Given the description of an element on the screen output the (x, y) to click on. 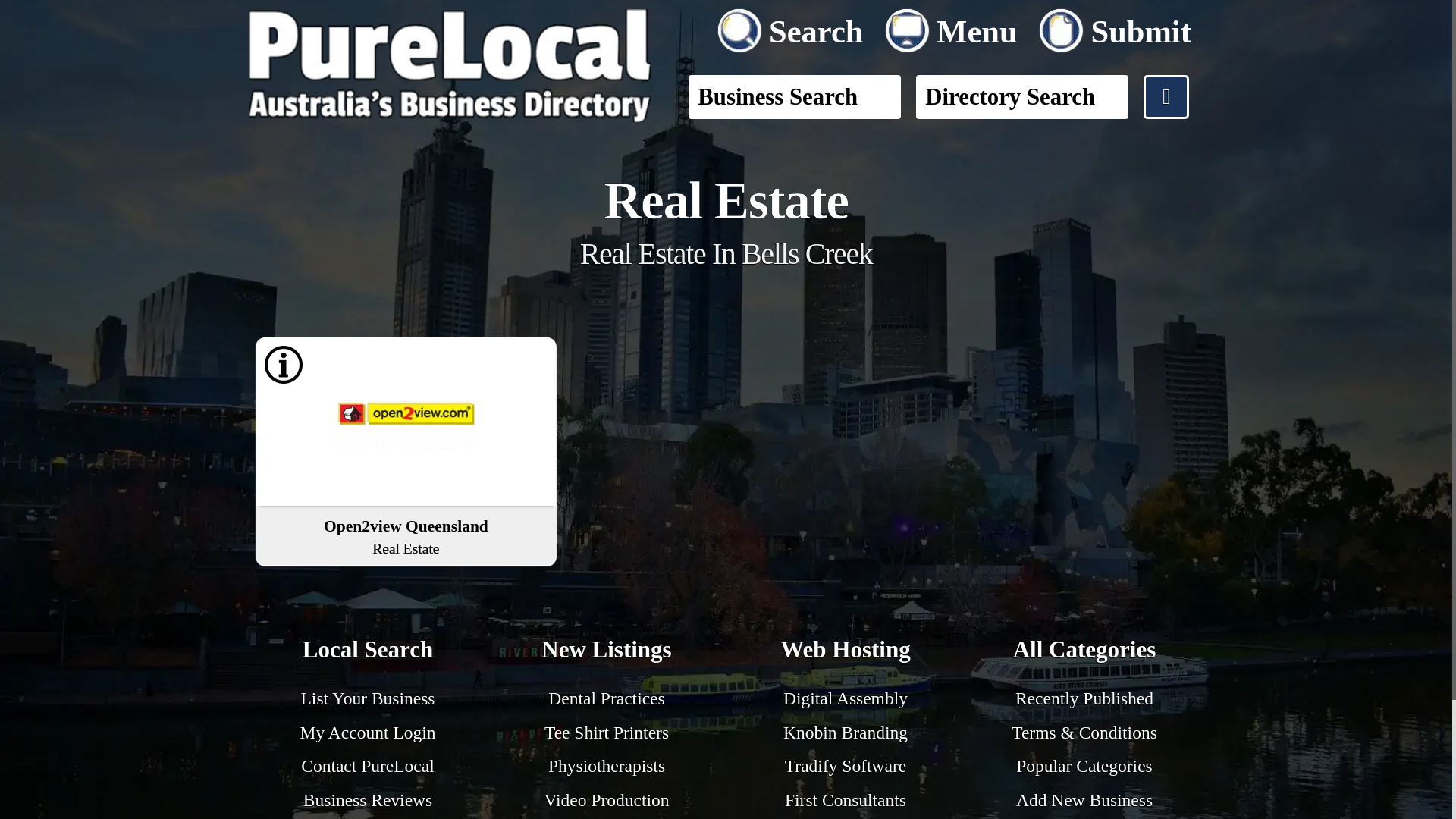
Popular Categories (1083, 765)
Physiotherapists (606, 765)
Contact PureLocal (367, 765)
Tee Shirt Printers (606, 732)
Menu (954, 27)
Dental Practices (605, 698)
New Listings (406, 534)
Local Search (606, 652)
Premium Web Hosting in Australia (367, 652)
Business Reviews (845, 652)
All Categories (367, 799)
Search (1084, 652)
List Your Business (793, 27)
My Account Login (368, 698)
